Given the description of an element on the screen output the (x, y) to click on. 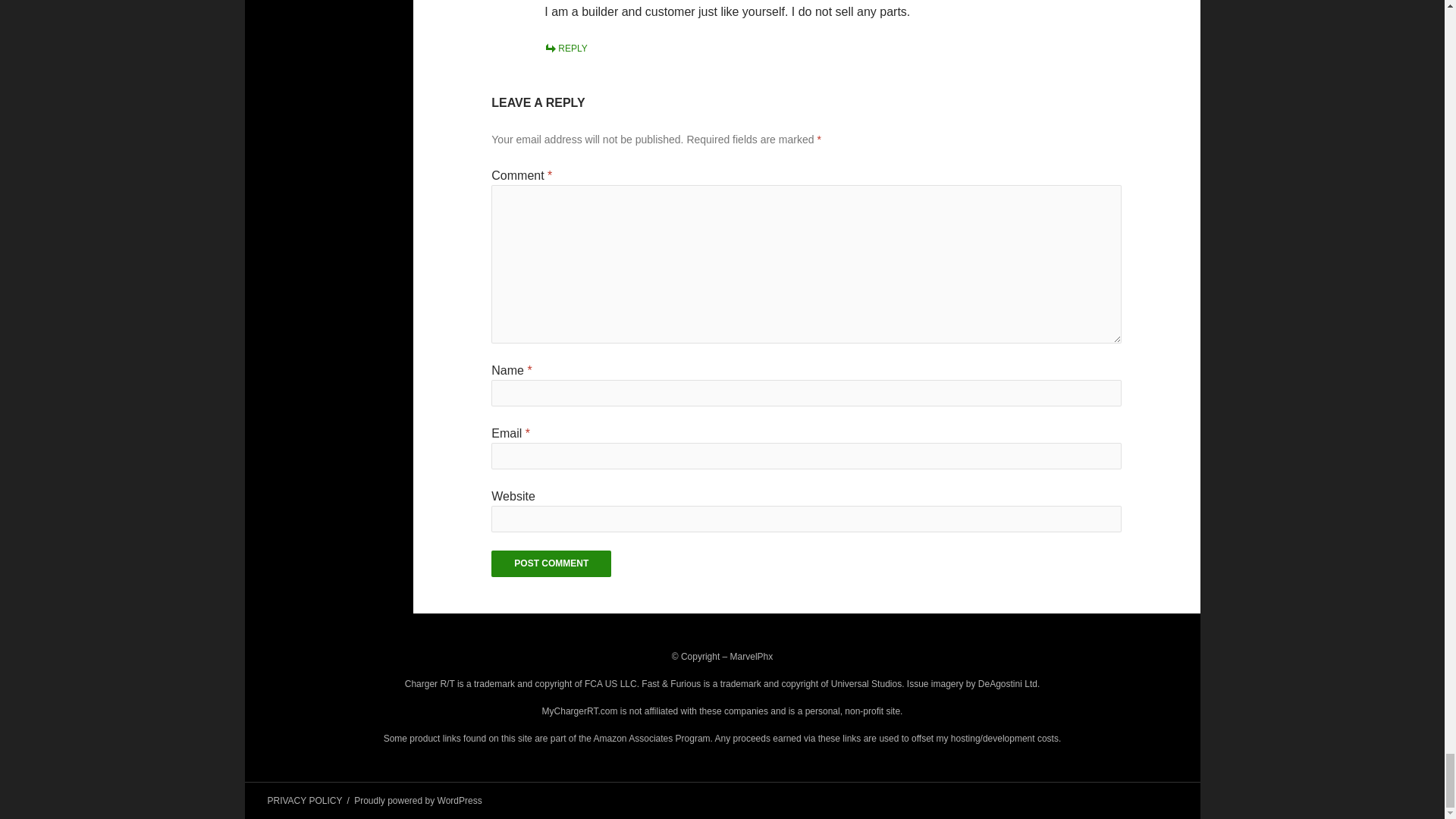
Post Comment (551, 563)
